Given the description of an element on the screen output the (x, y) to click on. 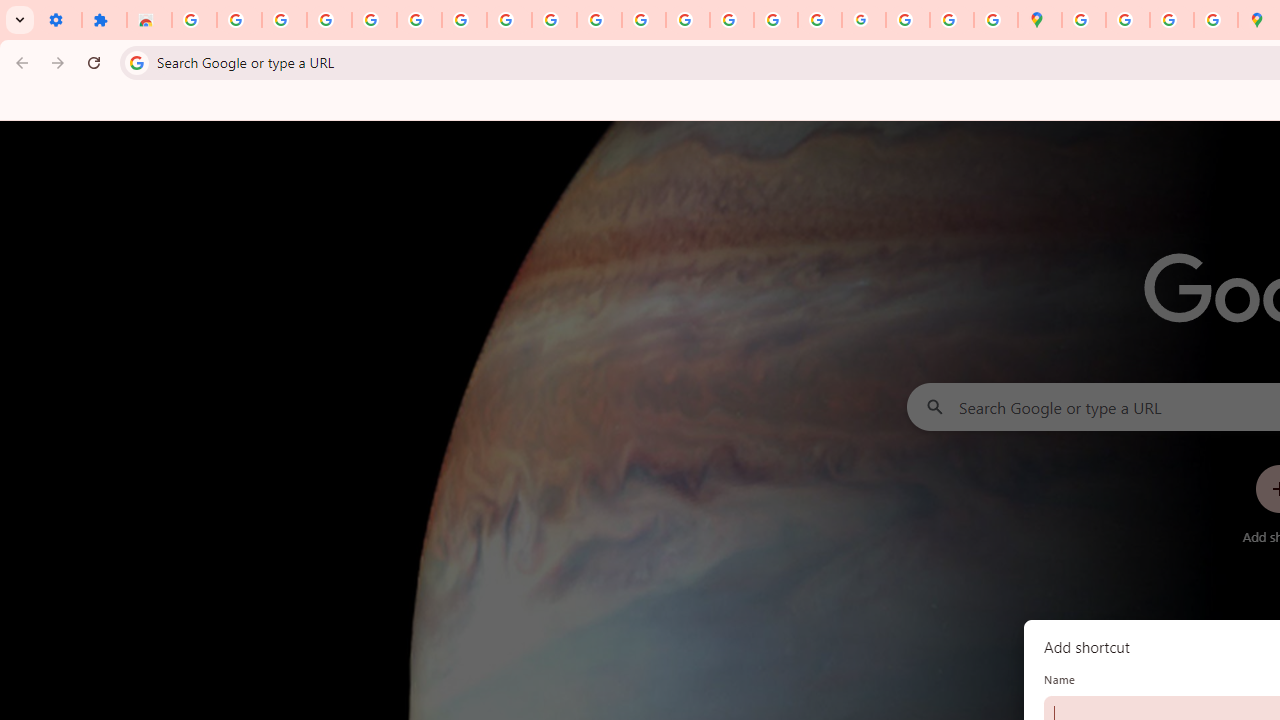
Sign in - Google Accounts (194, 20)
Sign in - Google Accounts (374, 20)
Create your Google Account (1171, 20)
Reviews: Helix Fruit Jump Arcade Game (148, 20)
Settings - On startup (59, 20)
